Given the description of an element on the screen output the (x, y) to click on. 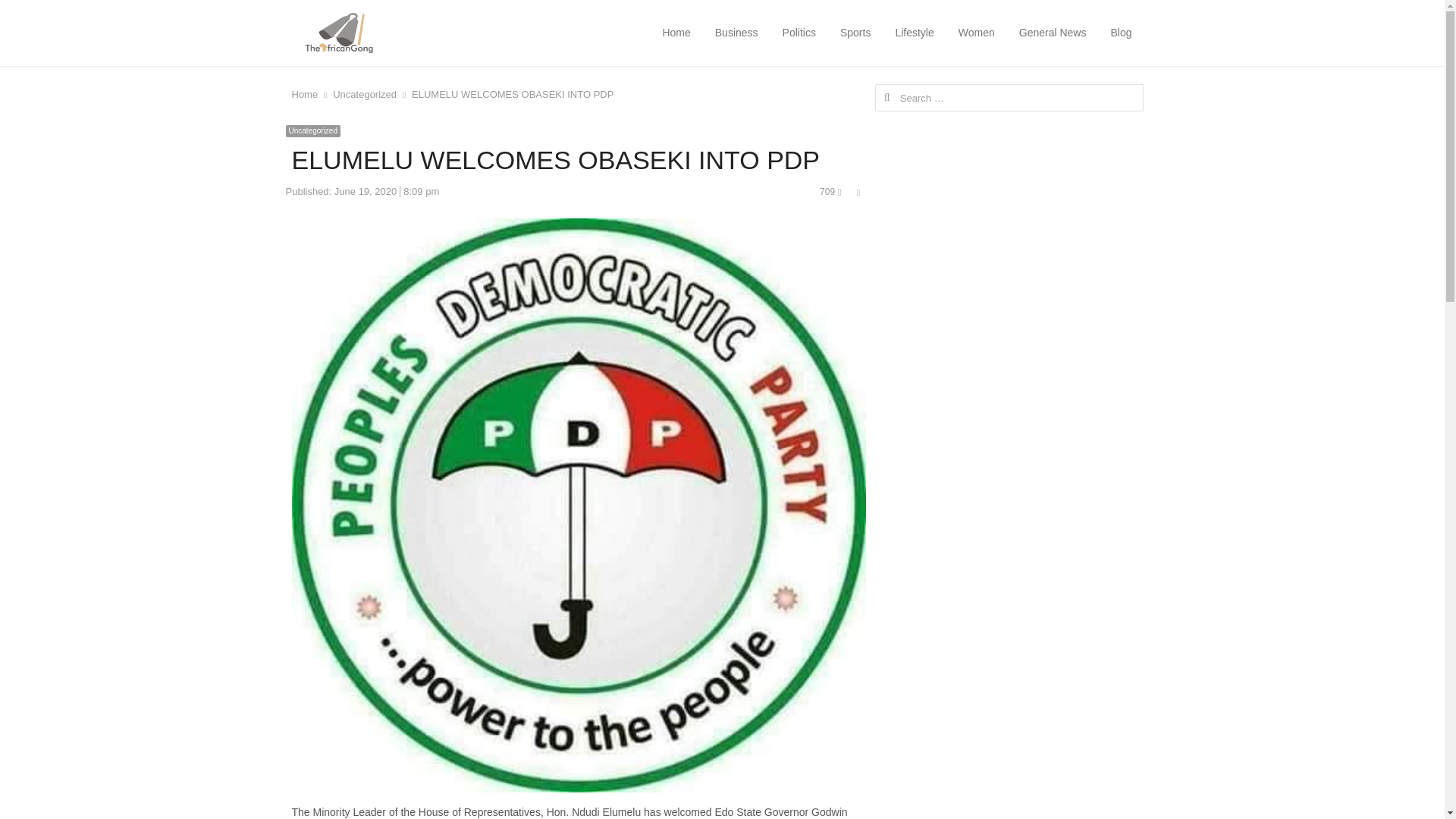
Women (976, 32)
General News (1052, 32)
Lifestyle (914, 32)
Uncategorized (312, 131)
The African Gong (383, 33)
Share this post (858, 192)
Uncategorized (364, 93)
Business (736, 32)
Home (304, 93)
Share this post (858, 192)
